Given the description of an element on the screen output the (x, y) to click on. 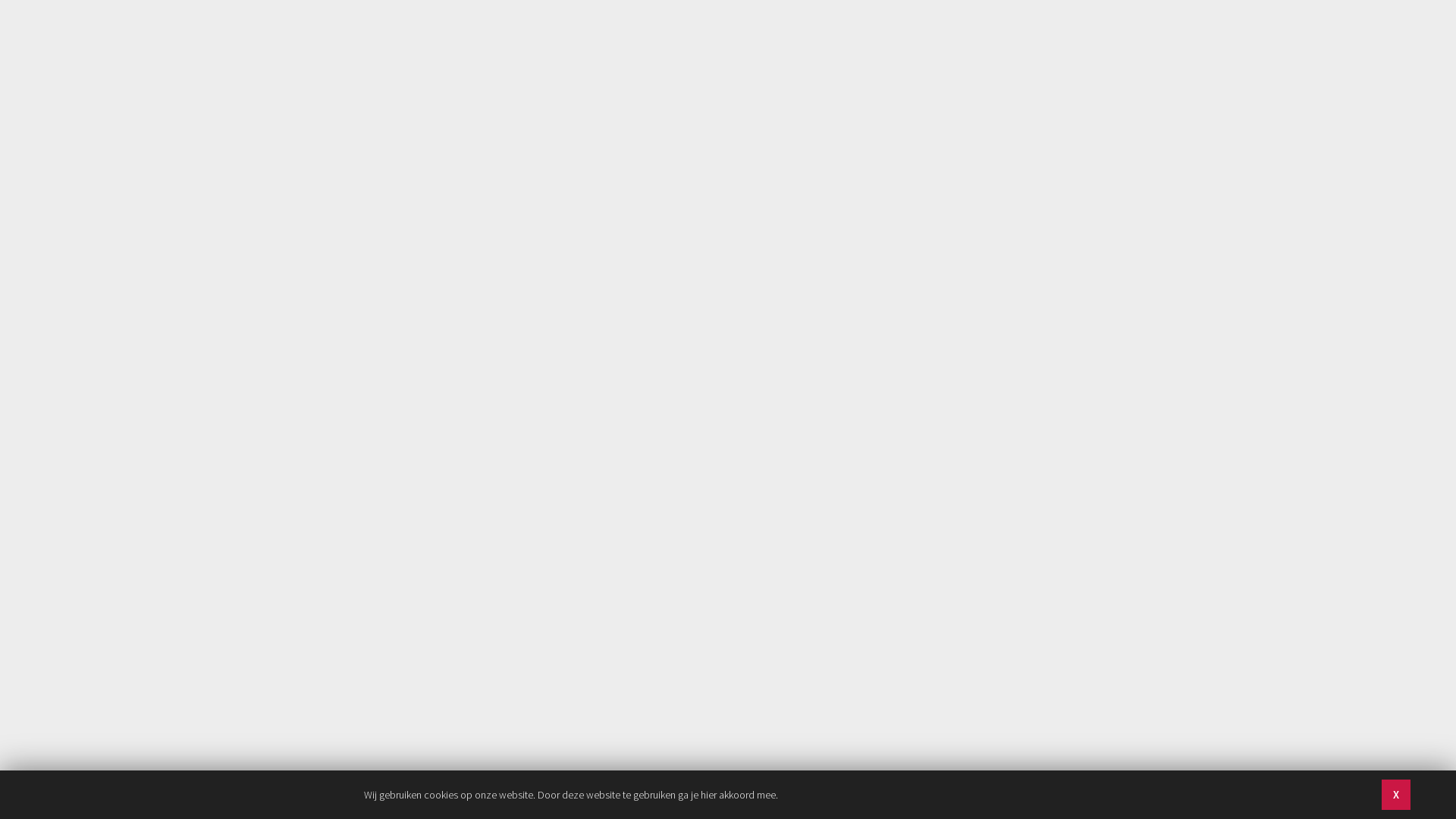
ONZE EXPERTISE Element type: text (813, 48)
TABELLEN Element type: text (970, 48)
LINKS Element type: text (901, 48)
X Element type: text (1395, 794)
And3 Element type: text (421, 42)
HOME Element type: text (644, 48)
CONTACT Element type: text (1049, 48)
ONS TEAM Element type: text (715, 48)
